Given the description of an element on the screen output the (x, y) to click on. 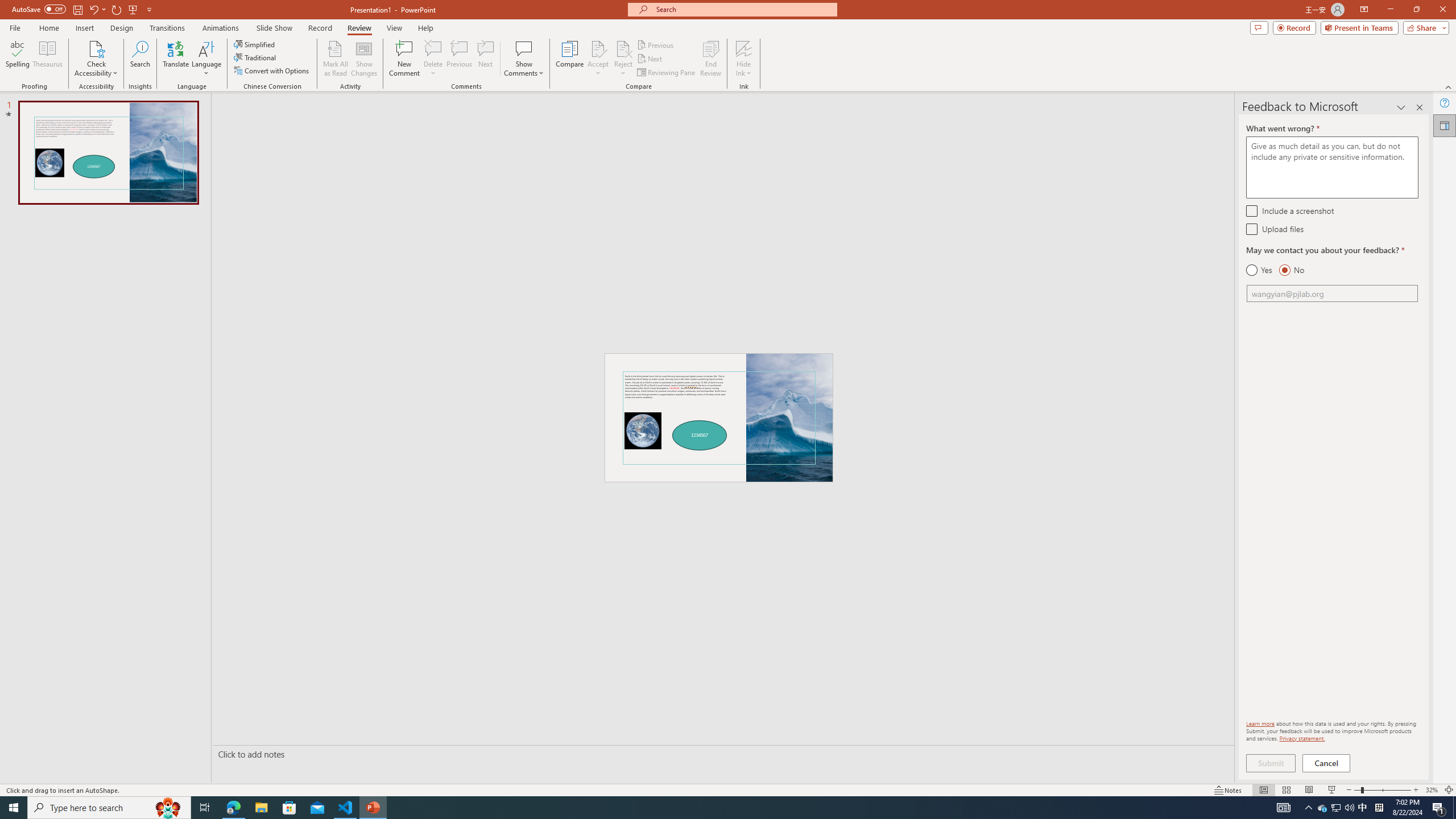
What went wrong? * (1332, 167)
Feedback to Microsoft (1444, 125)
Next (649, 58)
Previous (655, 44)
Email (1332, 293)
Language (206, 58)
